Given the description of an element on the screen output the (x, y) to click on. 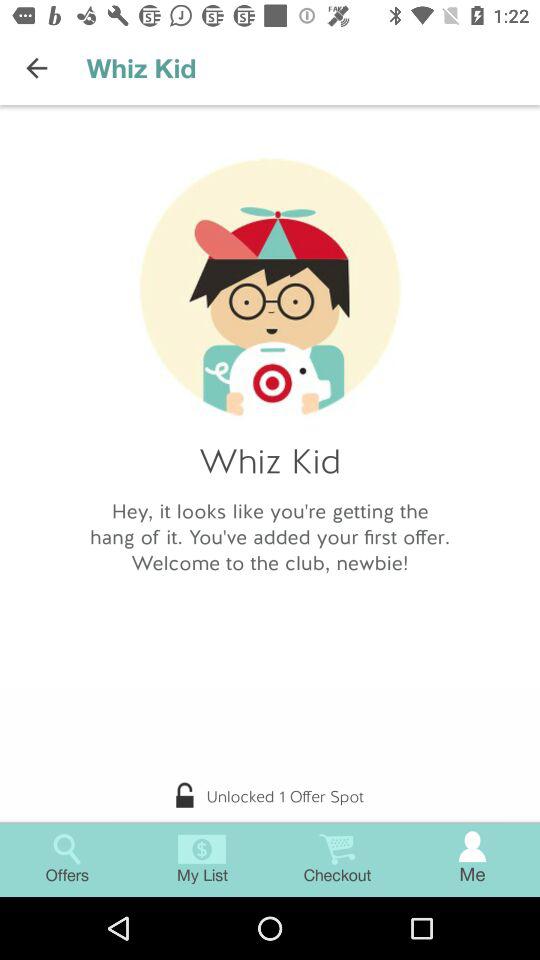
tap icon to the left of the whiz kid (36, 67)
